Given the description of an element on the screen output the (x, y) to click on. 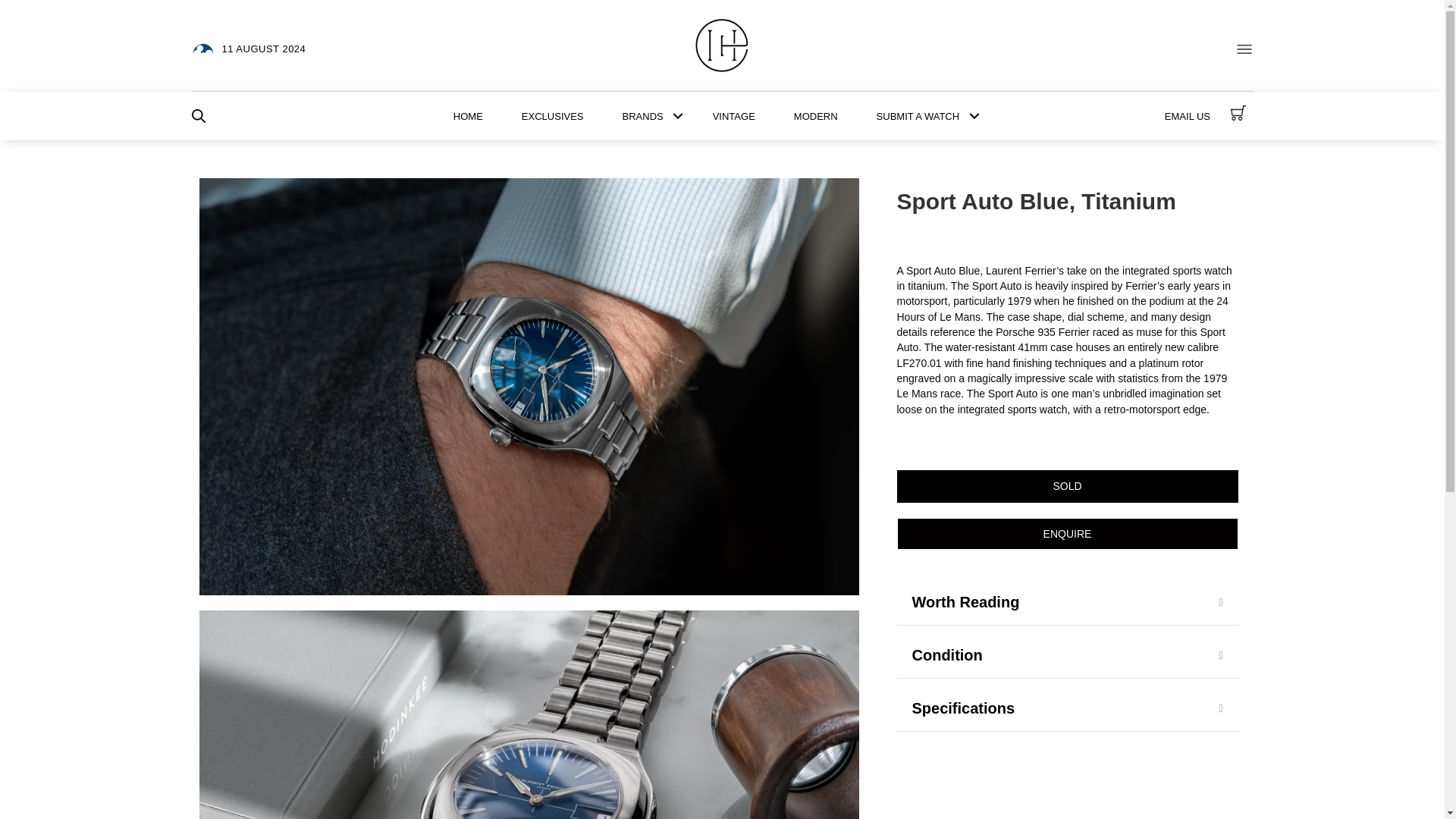
cart (1238, 112)
search (197, 115)
hairspring-logo (721, 45)
